Given the description of an element on the screen output the (x, y) to click on. 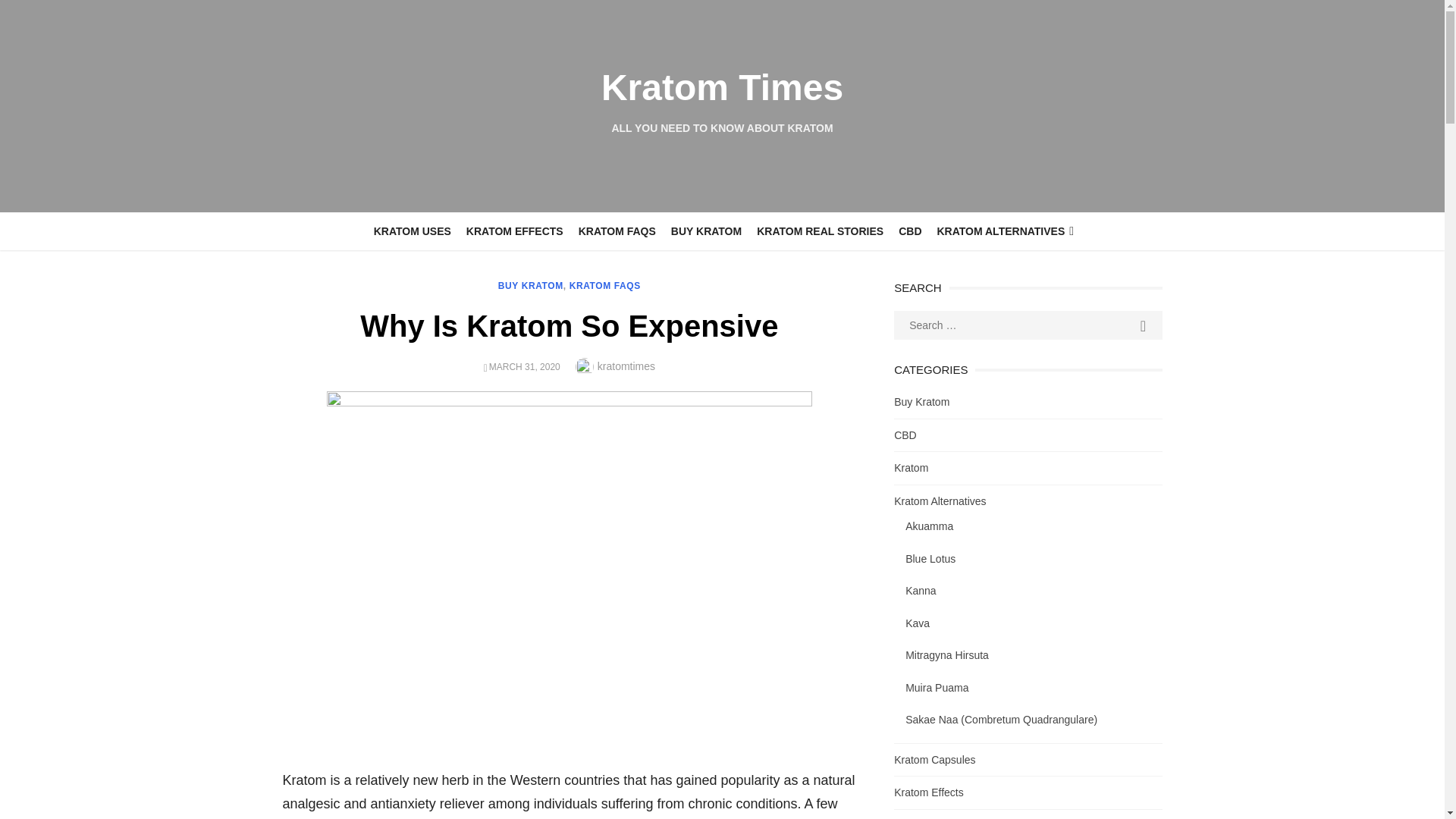
CBD (909, 231)
BUY KRATOM (530, 285)
kratomtimes (625, 366)
KRATOM USES (412, 231)
BUY KRATOM (706, 231)
KRATOM REAL STORIES (820, 231)
MARCH 31, 2020 (524, 366)
KRATOM EFFECTS (514, 231)
KRATOM FAQS (604, 285)
KRATOM FAQS (616, 231)
